Given the description of an element on the screen output the (x, y) to click on. 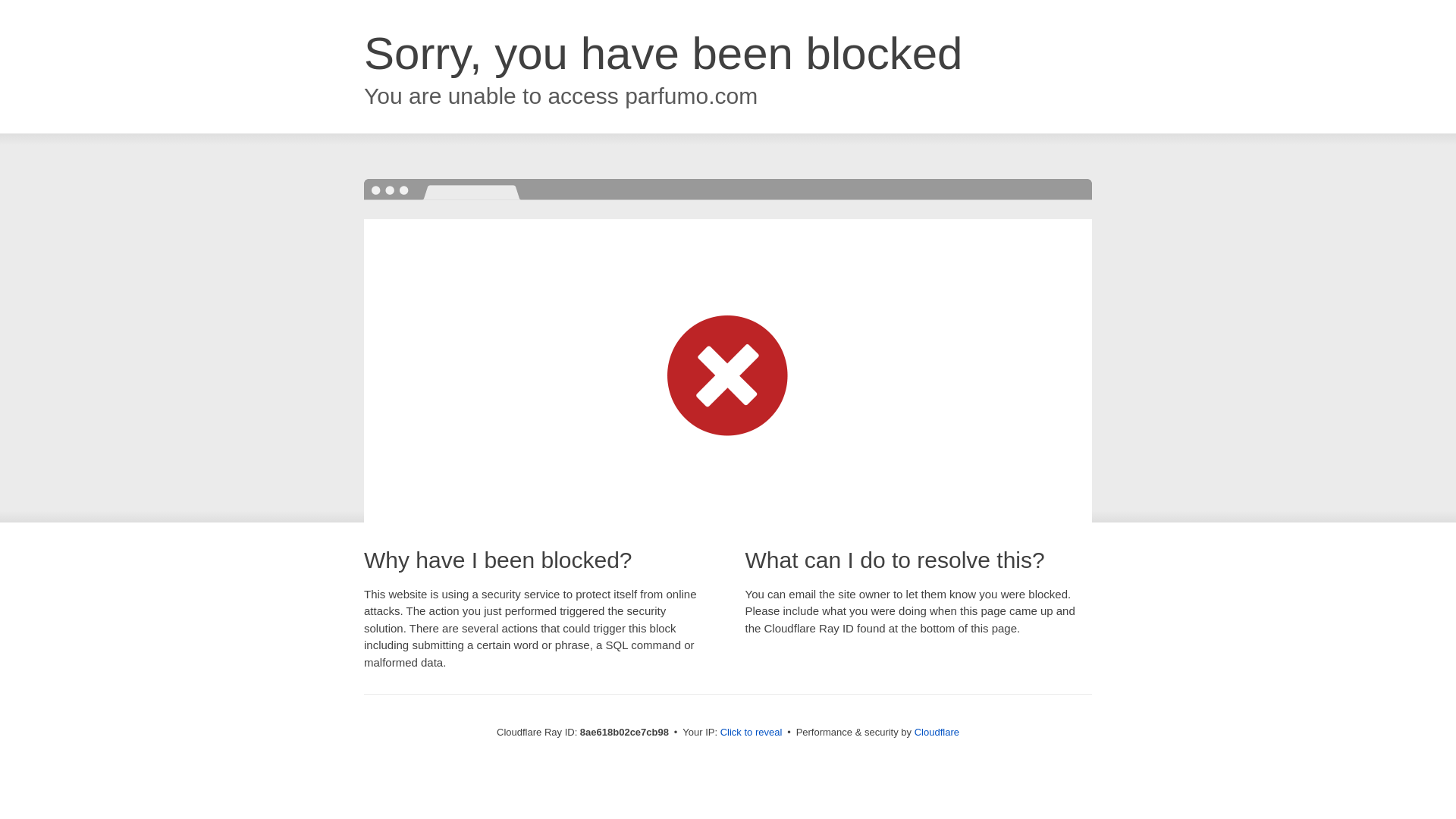
Cloudflare (936, 731)
Click to reveal (751, 732)
